Given the description of an element on the screen output the (x, y) to click on. 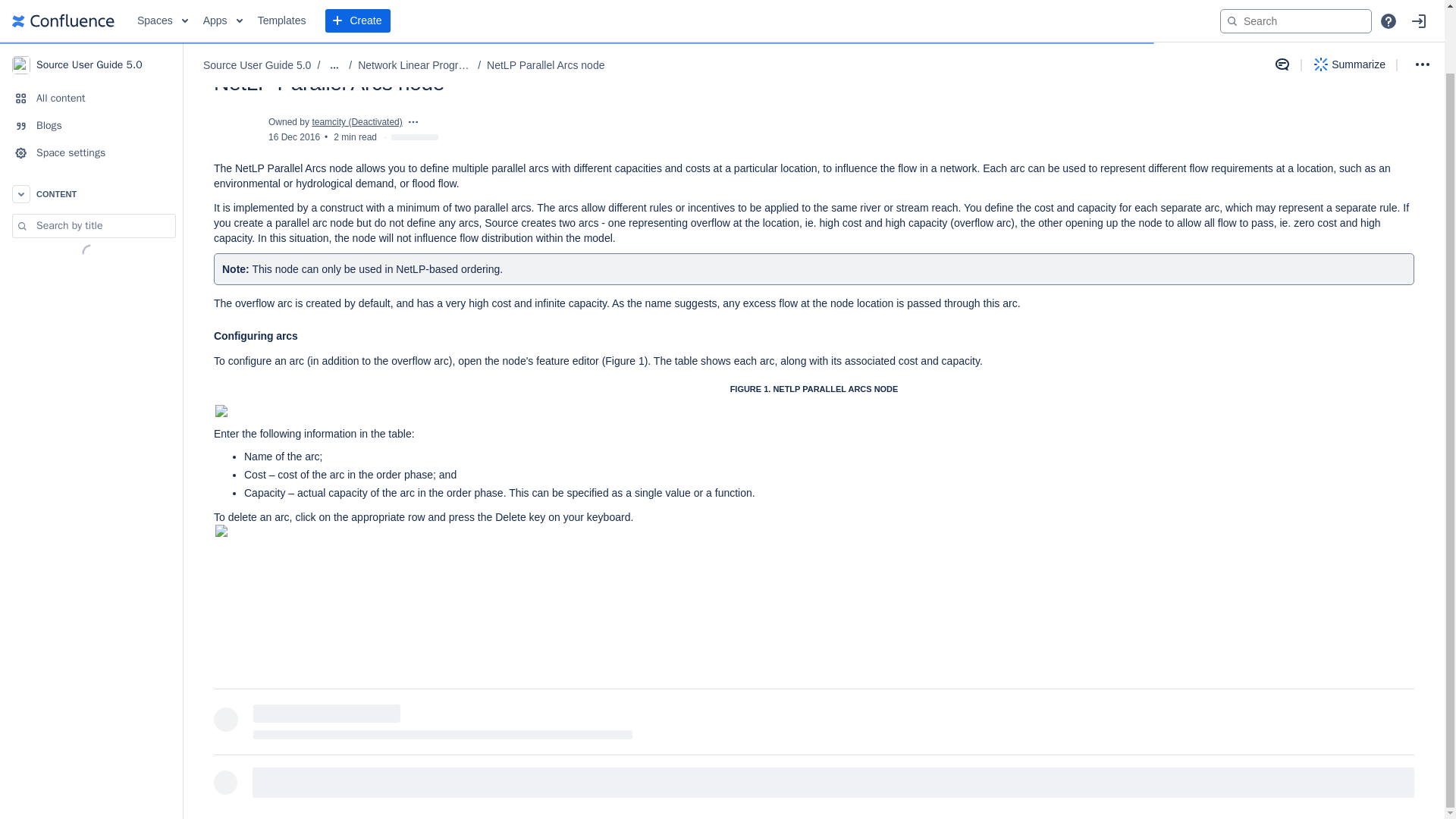
CONTENT (90, 124)
NetLP Parallel Arcs node (545, 2)
Space settings (90, 83)
All content (90, 29)
Blogs (90, 56)
Source User Guide 5.0 (90, 5)
Source User Guide 5.0 (257, 2)
Network Linear Programming (414, 2)
Summarize (1349, 3)
